Given the description of an element on the screen output the (x, y) to click on. 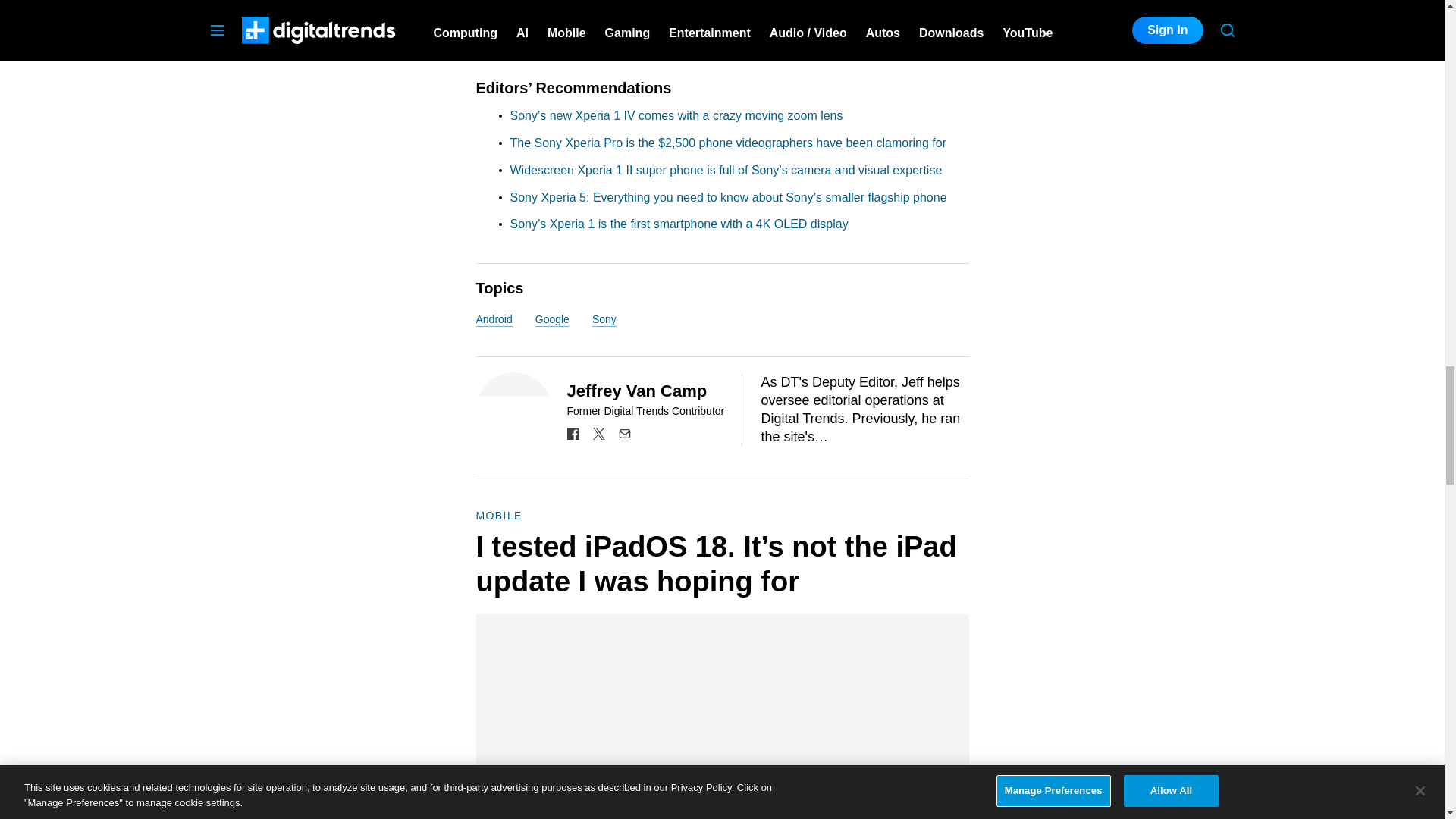
Kodak Zi8 Review (572, 21)
